Given the description of an element on the screen output the (x, y) to click on. 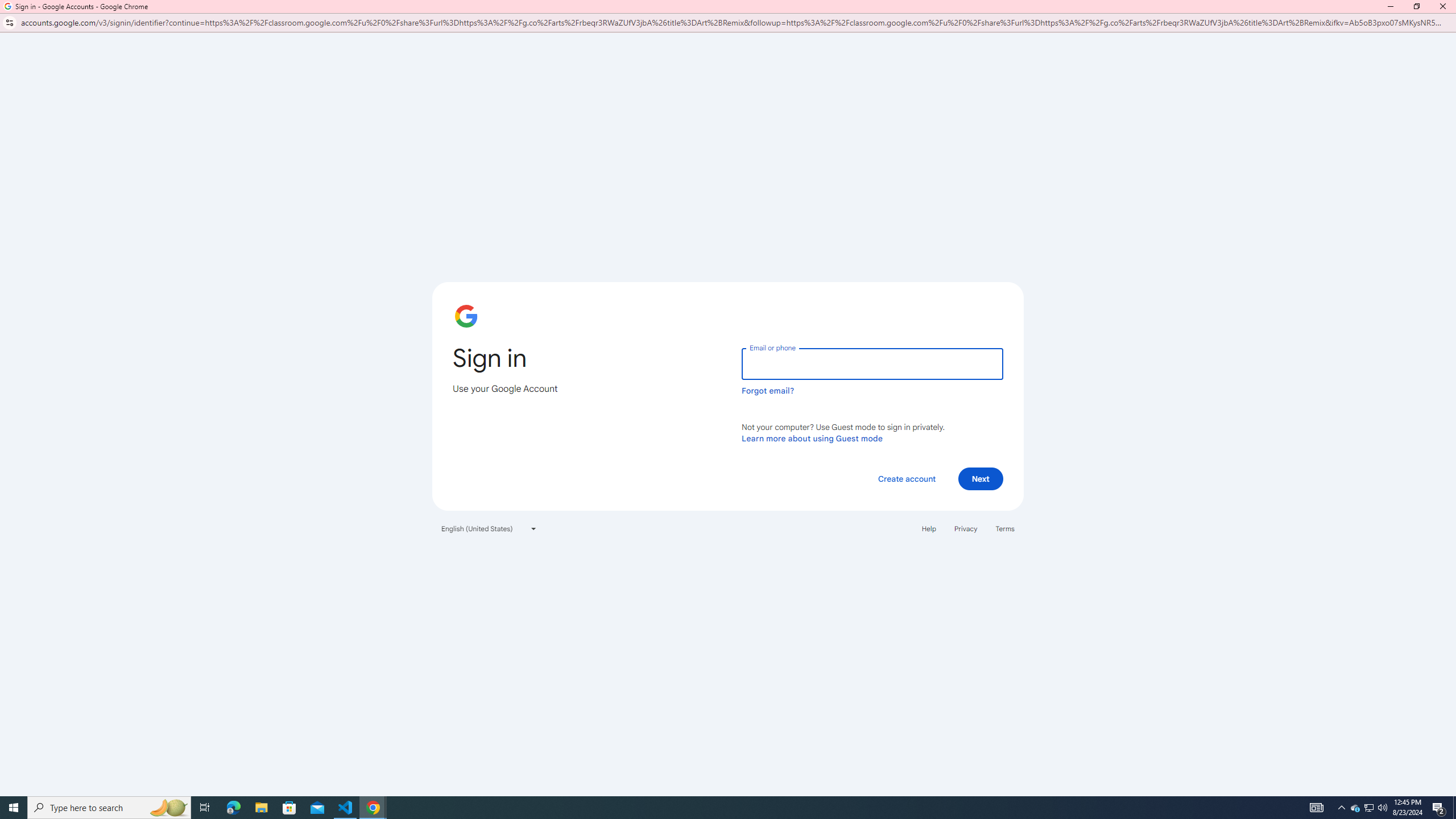
Forgot email? (767, 390)
Learn more about using Guest mode (812, 437)
Next (980, 478)
Privacy (965, 529)
Terms (1005, 529)
English (United States) (489, 529)
Email or phone (871, 363)
Help (928, 529)
